Given the description of an element on the screen output the (x, y) to click on. 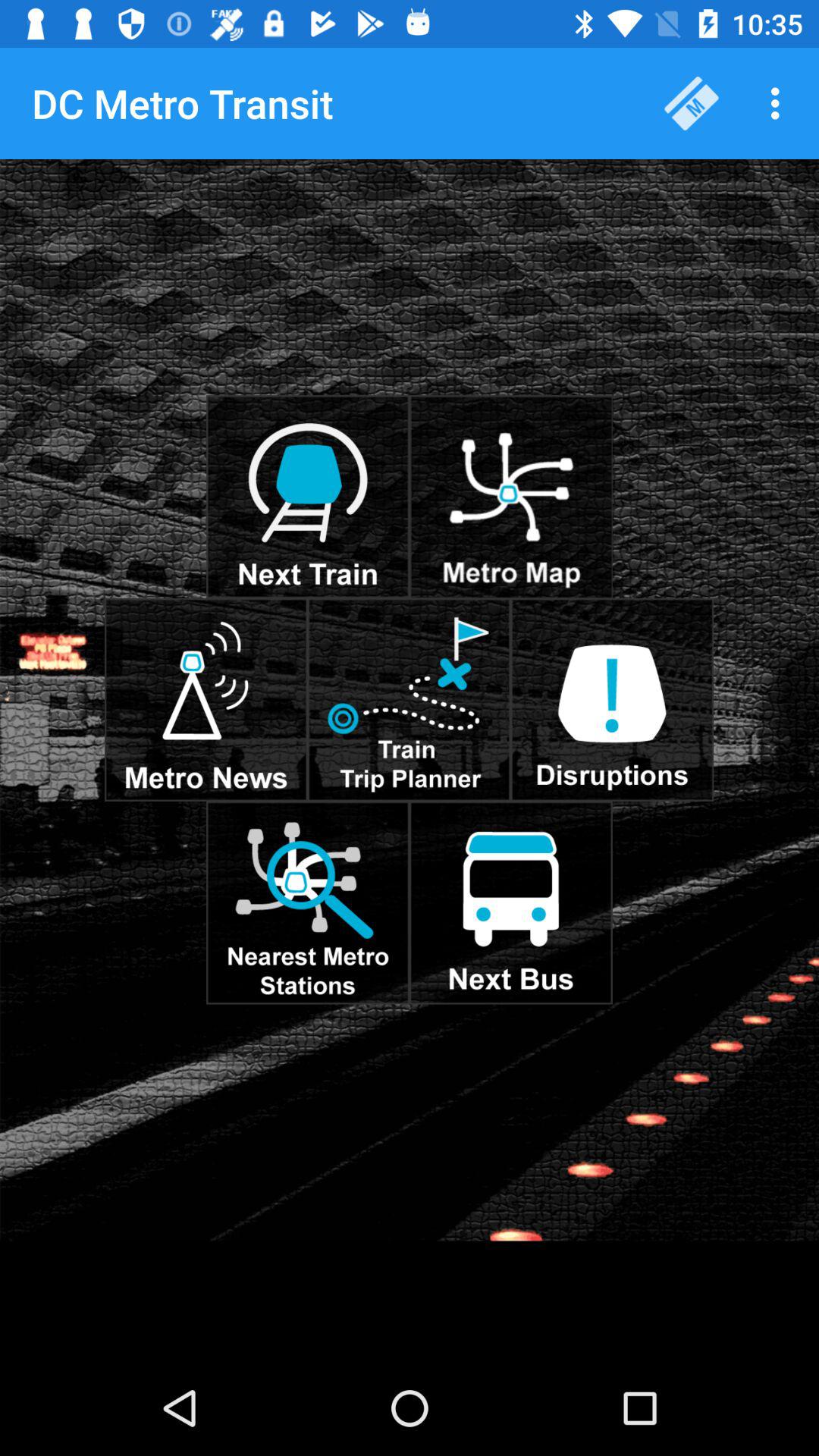
view next train (307, 496)
